Given the description of an element on the screen output the (x, y) to click on. 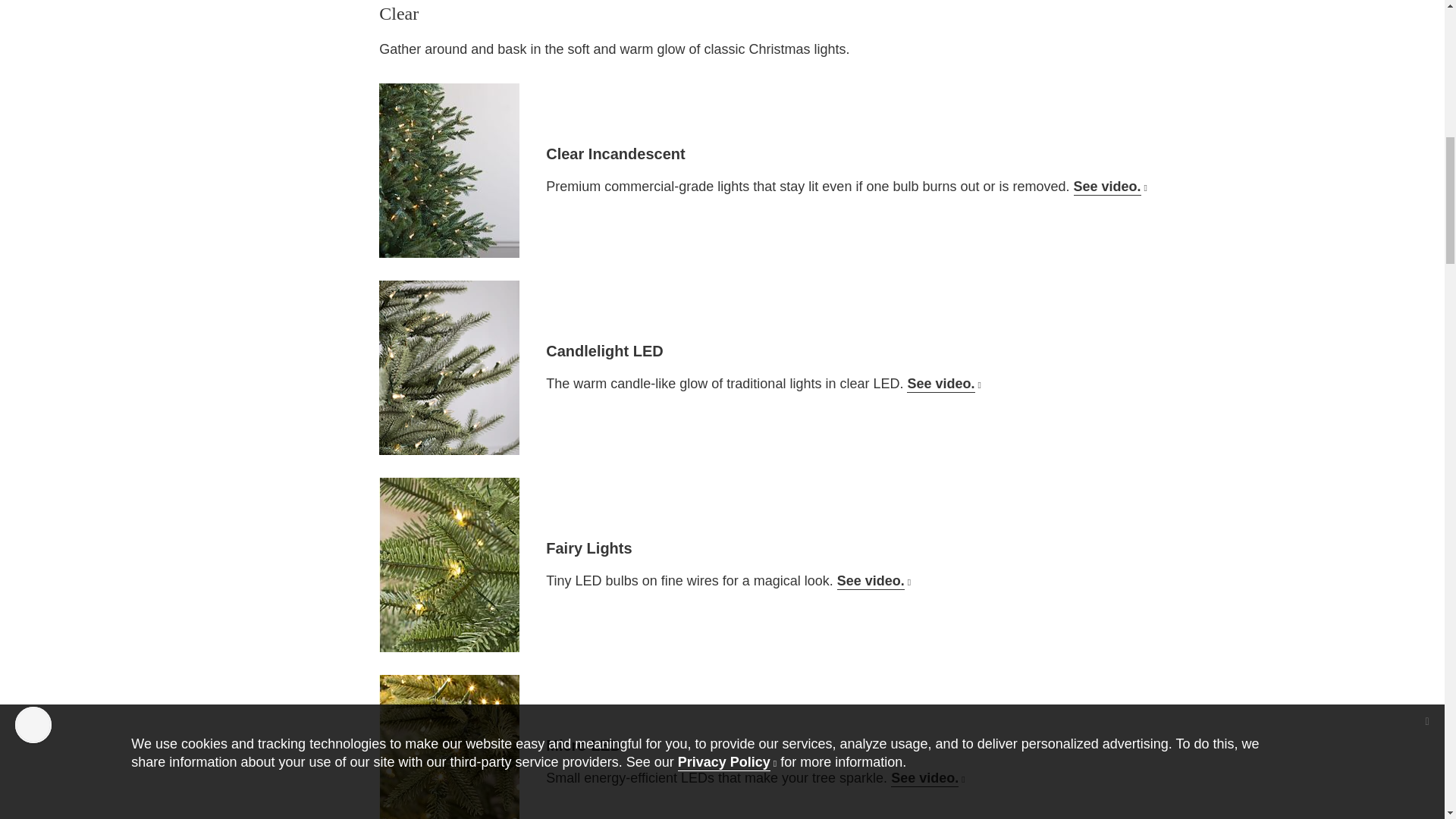
See video. (874, 580)
See video. (927, 777)
See video. (1110, 186)
See video. (943, 383)
